Given the description of an element on the screen output the (x, y) to click on. 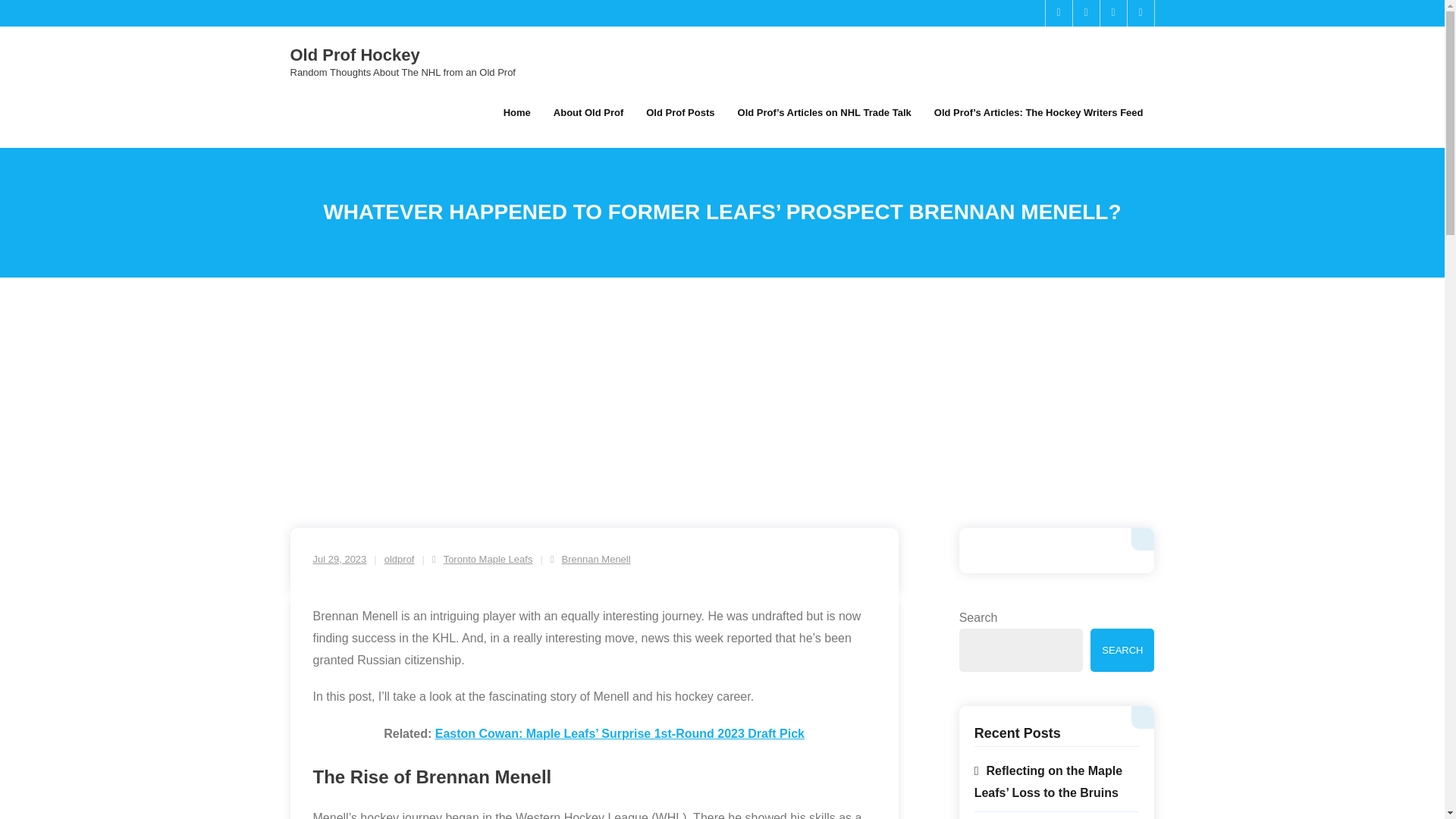
Jul 29, 2023 (339, 559)
oldprof (399, 559)
Random Thoughts About The NHL from an Old Prof (402, 71)
About Old Prof (587, 112)
Brennan Menell (596, 559)
Old Prof Hockey (402, 55)
Toronto Maple Leafs (488, 559)
Old Prof Posts (679, 112)
SEARCH (1122, 649)
View all posts by oldprof (399, 559)
